Given the description of an element on the screen output the (x, y) to click on. 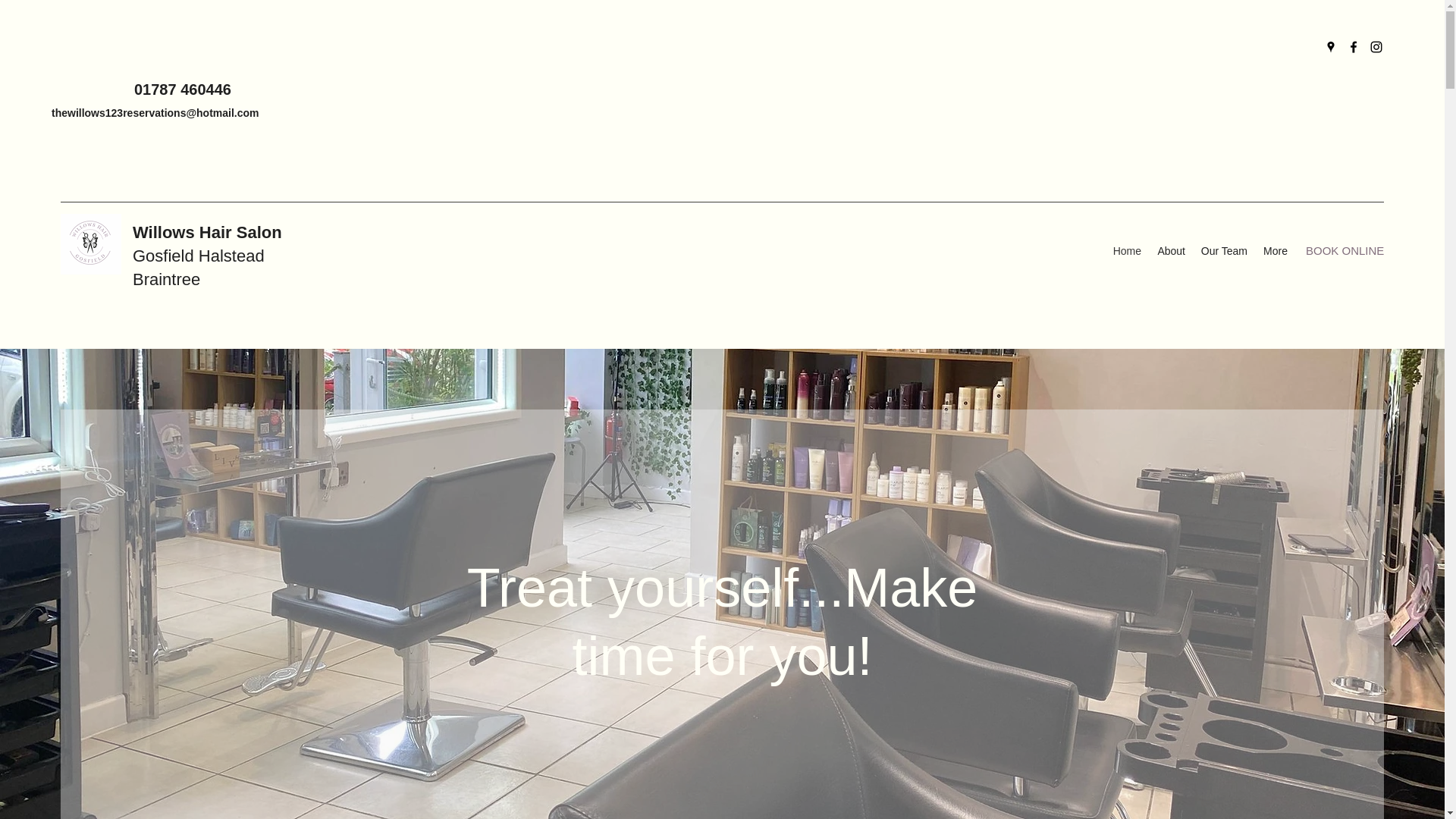
Our Team (1223, 250)
About (1170, 250)
BOOK ONLINE (1345, 251)
Home (1126, 250)
